Given the description of an element on the screen output the (x, y) to click on. 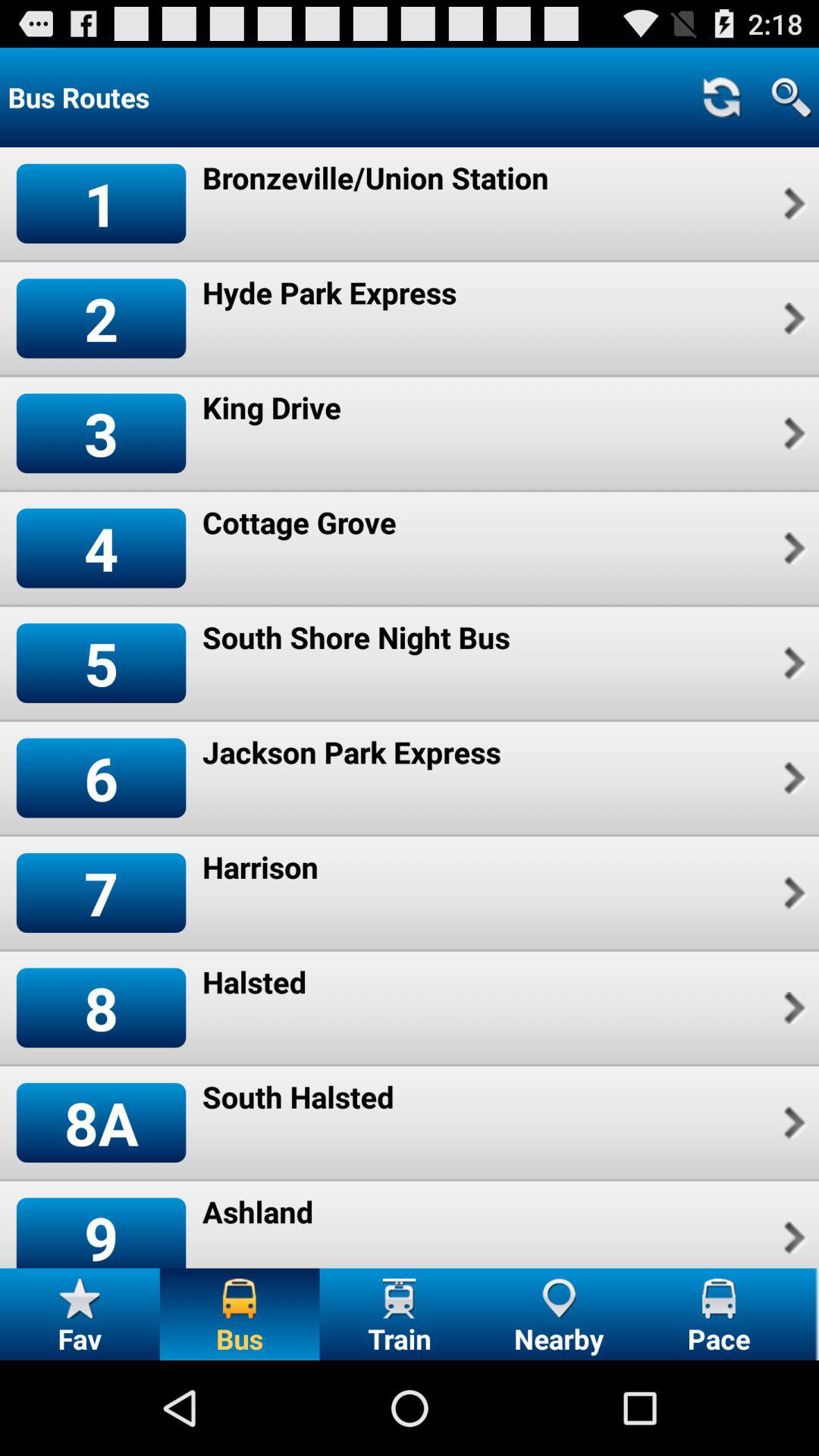
turn off app next to the ashland (792, 1237)
